Given the description of an element on the screen output the (x, y) to click on. 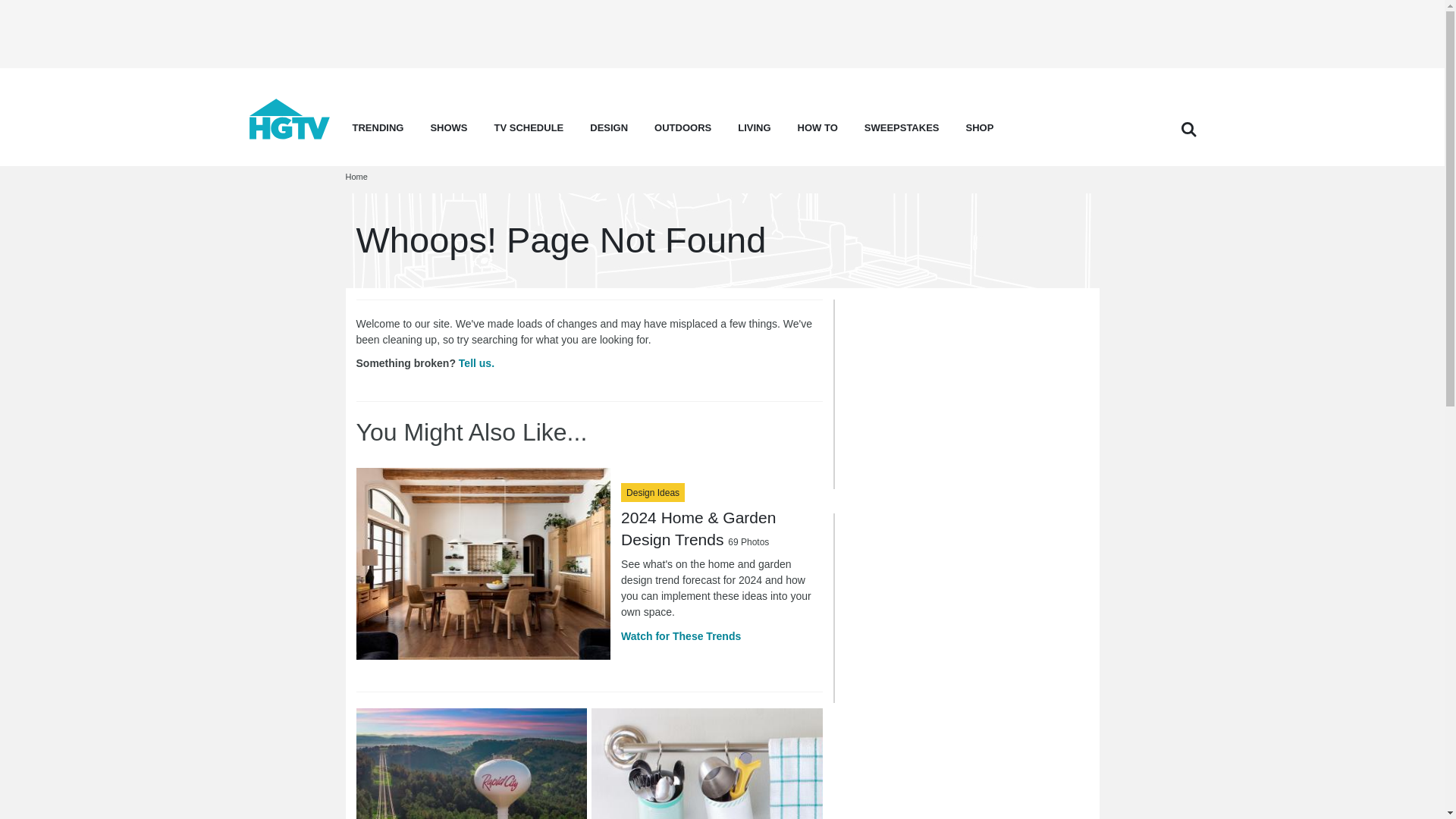
home (289, 135)
TV SCHEDULE (529, 132)
3rd party ad content (957, 393)
3rd party ad content (957, 607)
30 Best Up-and-Coming Small Cities in America (472, 763)
85 Clever Dollar Store Hacks (706, 763)
3rd party ad content (721, 33)
